Given the description of an element on the screen output the (x, y) to click on. 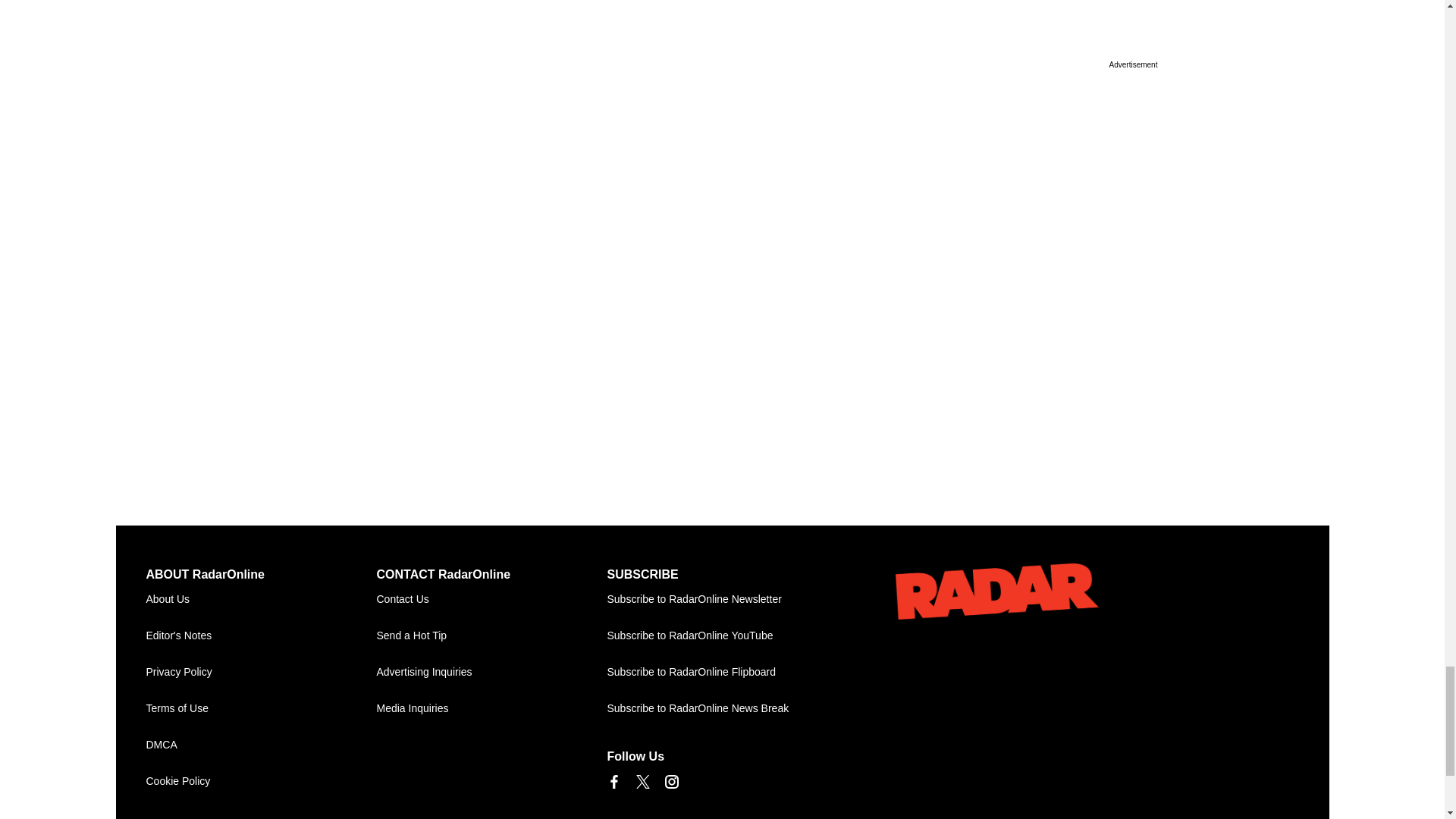
Link to Instagram (670, 781)
Send a Hot Tip (491, 636)
Subscribe (722, 599)
Editor's Notes (260, 636)
DMCA (260, 745)
Terms of Use (260, 709)
Cookie Policy (260, 781)
Media Inquiries (491, 709)
Link to Facebook (613, 781)
Link to X (641, 781)
